Given the description of an element on the screen output the (x, y) to click on. 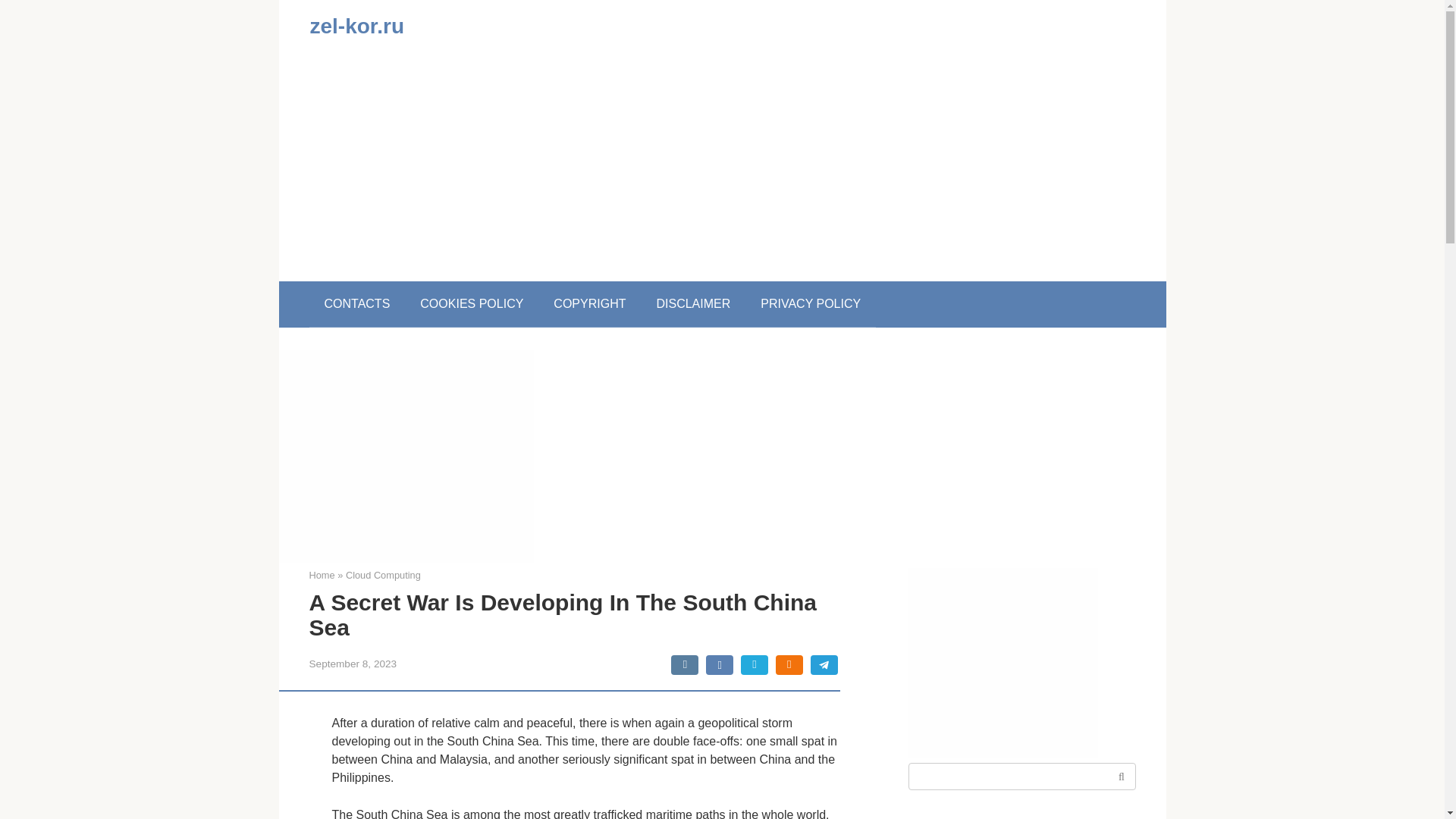
Cloud Computing (383, 574)
PRIVACY POLICY (810, 303)
Home (321, 574)
COPYRIGHT (589, 303)
CONTACTS (357, 303)
zel-kor.ru (355, 25)
COOKIES POLICY (471, 303)
DISCLAIMER (692, 303)
